Given the description of an element on the screen output the (x, y) to click on. 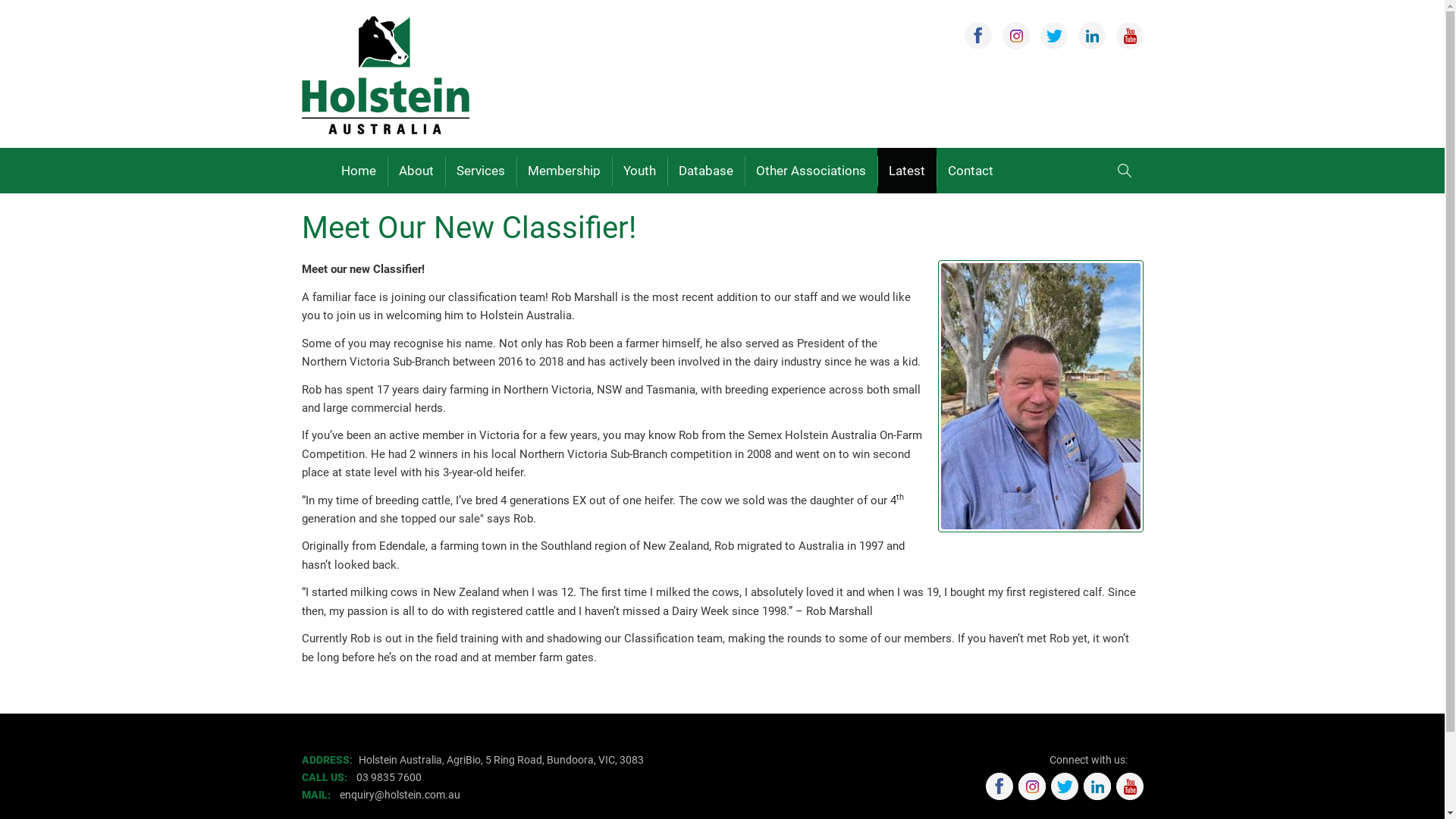
enquiry@holstein.com.au  Element type: text (400, 794)
03 9835 7600 Element type: text (388, 777)
Youth Element type: text (639, 170)
Other Associations Element type: text (810, 170)
Contact Element type: text (970, 170)
Home Element type: text (358, 170)
About Element type: text (416, 170)
Database Element type: text (705, 170)
Membership Element type: text (563, 170)
  Element type: text (353, 777)
Services Element type: text (480, 170)
Latest Element type: text (906, 170)
